Given the description of an element on the screen output the (x, y) to click on. 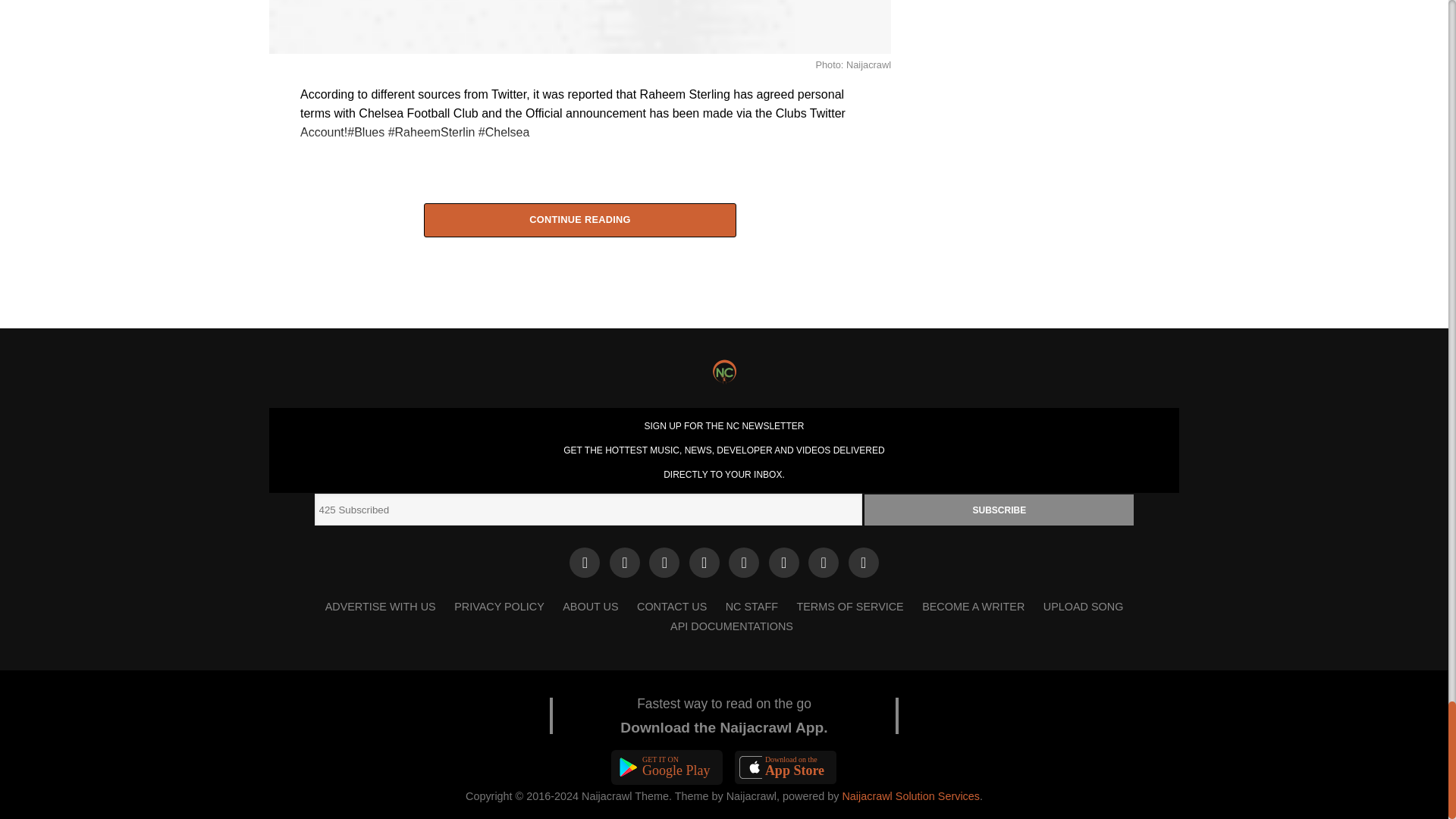
Google Play (667, 767)
Subscribe (999, 509)
App Store (785, 767)
